Given the description of an element on the screen output the (x, y) to click on. 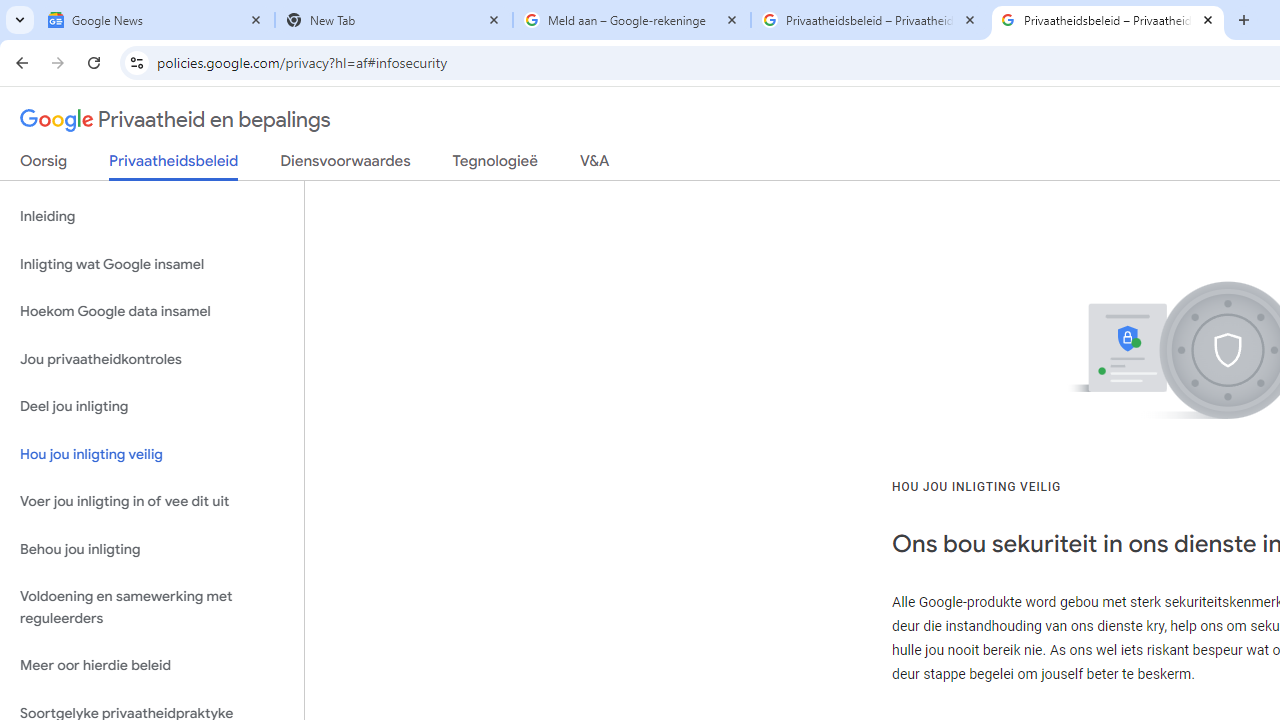
Deel jou inligting (152, 407)
Oorsig (43, 165)
Hoekom Google data insamel (152, 312)
New Tab (394, 20)
Voldoening en samewerking met reguleerders (152, 607)
Meer oor hierdie beleid (152, 666)
Hou jou inligting veilig (152, 453)
Inligting wat Google insamel (152, 263)
